Given the description of an element on the screen output the (x, y) to click on. 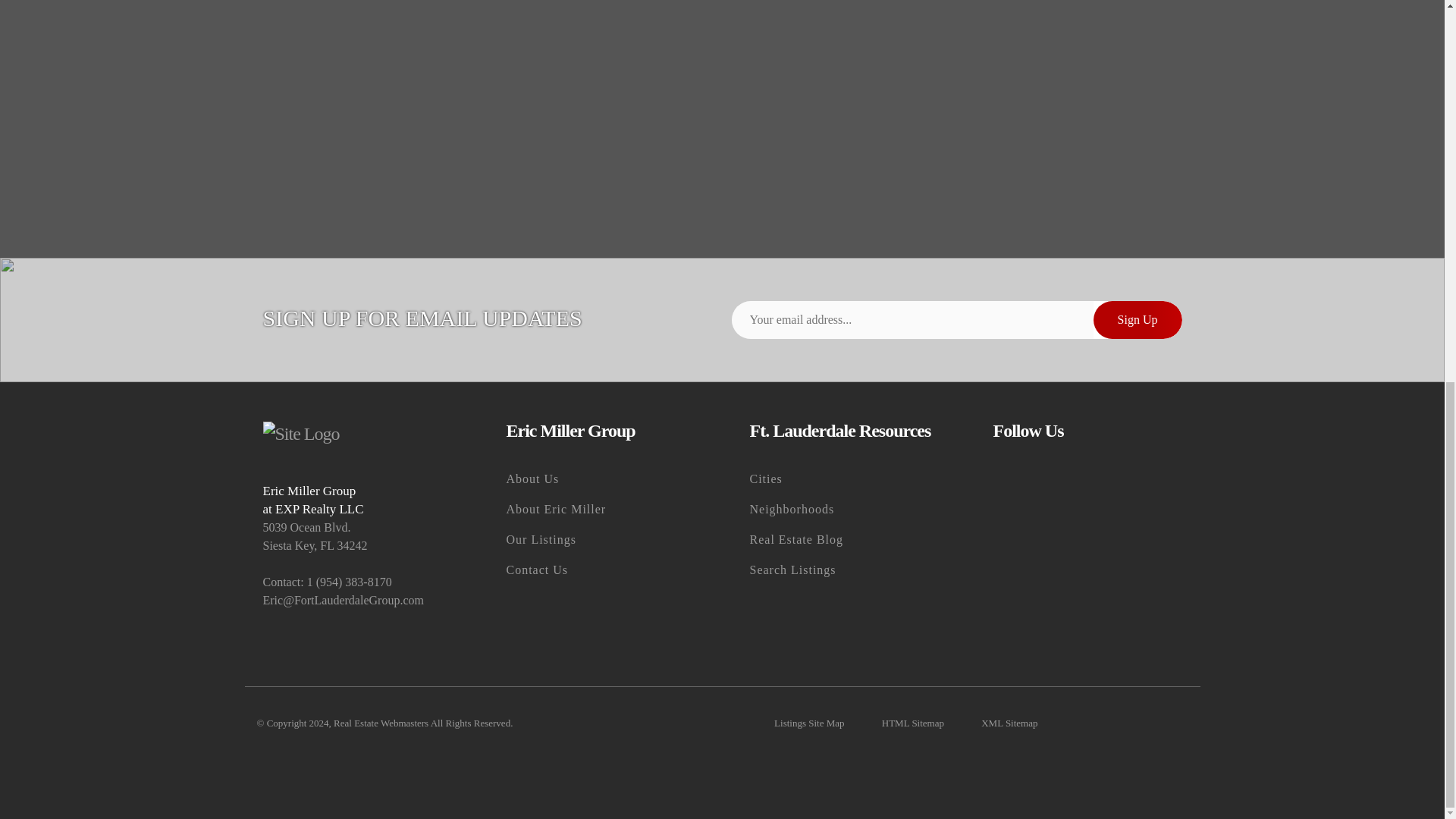
Our Listings (600, 539)
Contact Us (600, 570)
Real Estate Blog (843, 539)
About Us (600, 479)
Sign Up (1137, 320)
Site Logo (300, 433)
About Eric Miller (600, 509)
Neighborhoods (843, 509)
Cities (843, 479)
